Given the description of an element on the screen output the (x, y) to click on. 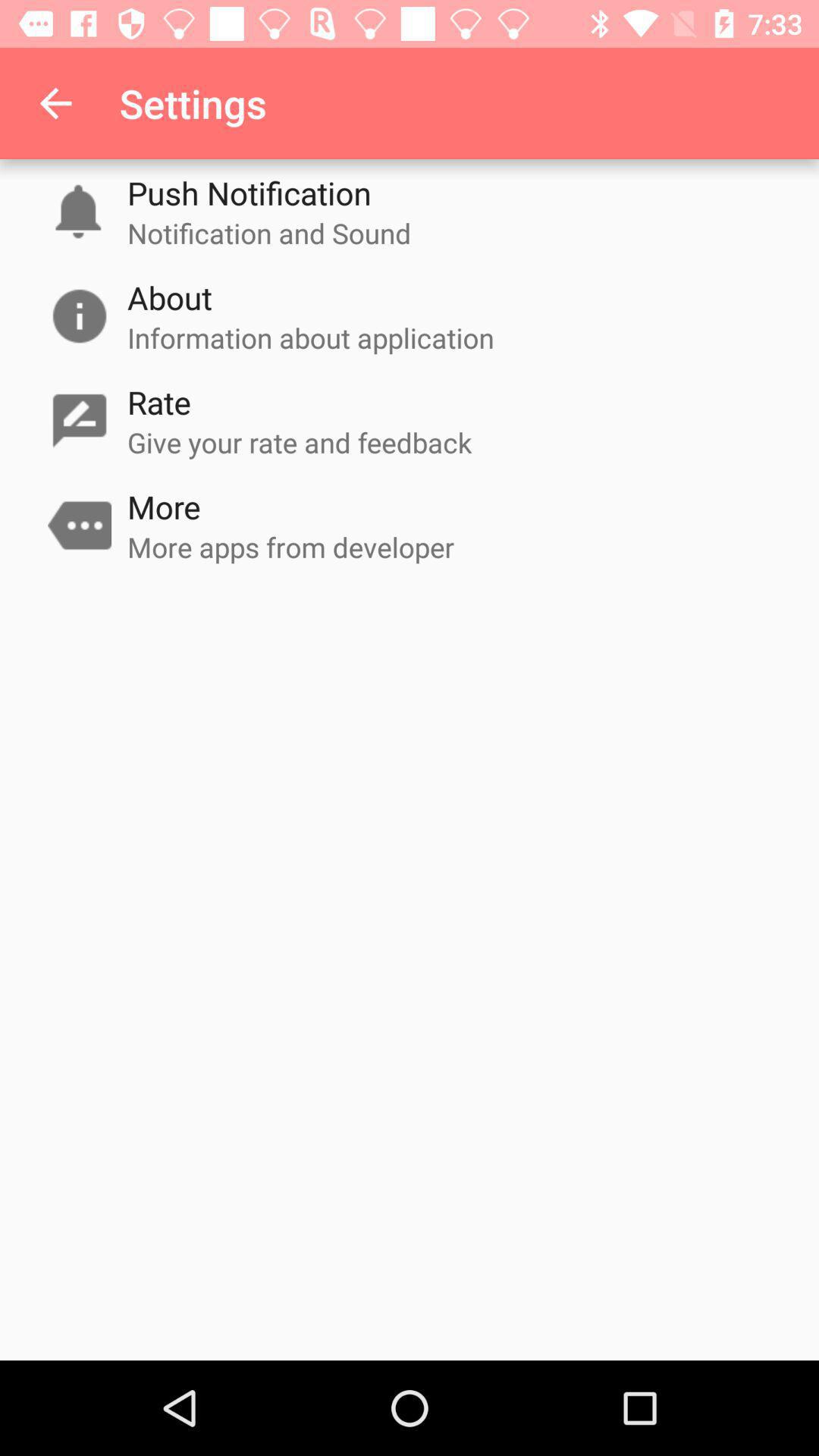
click icon above more item (299, 442)
